Given the description of an element on the screen output the (x, y) to click on. 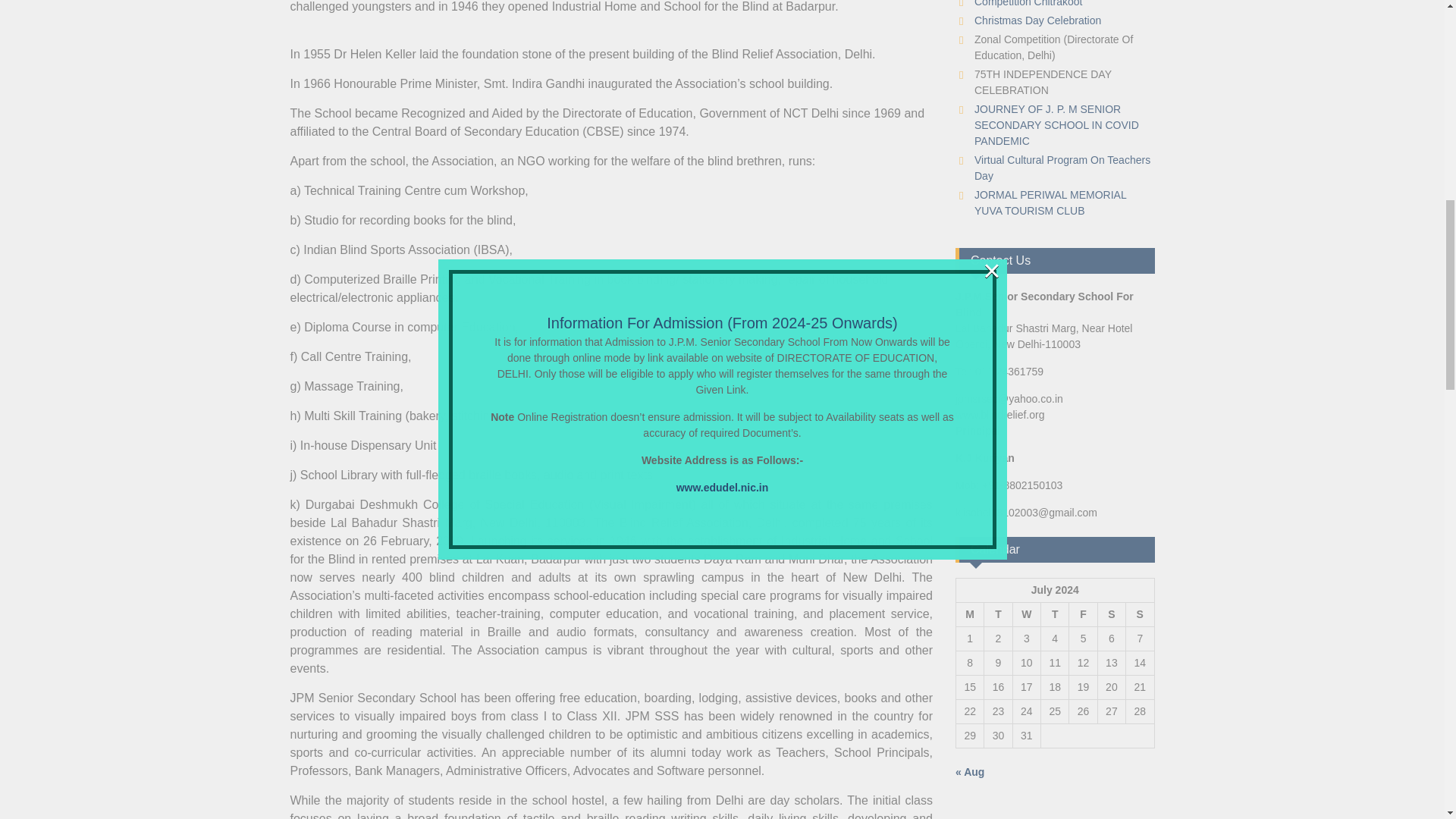
Thursday (1054, 613)
Tuesday (997, 613)
Sunday (1139, 613)
Saturday (1111, 613)
Friday (1082, 613)
Monday (969, 613)
Wednesday (1026, 613)
